Given the description of an element on the screen output the (x, y) to click on. 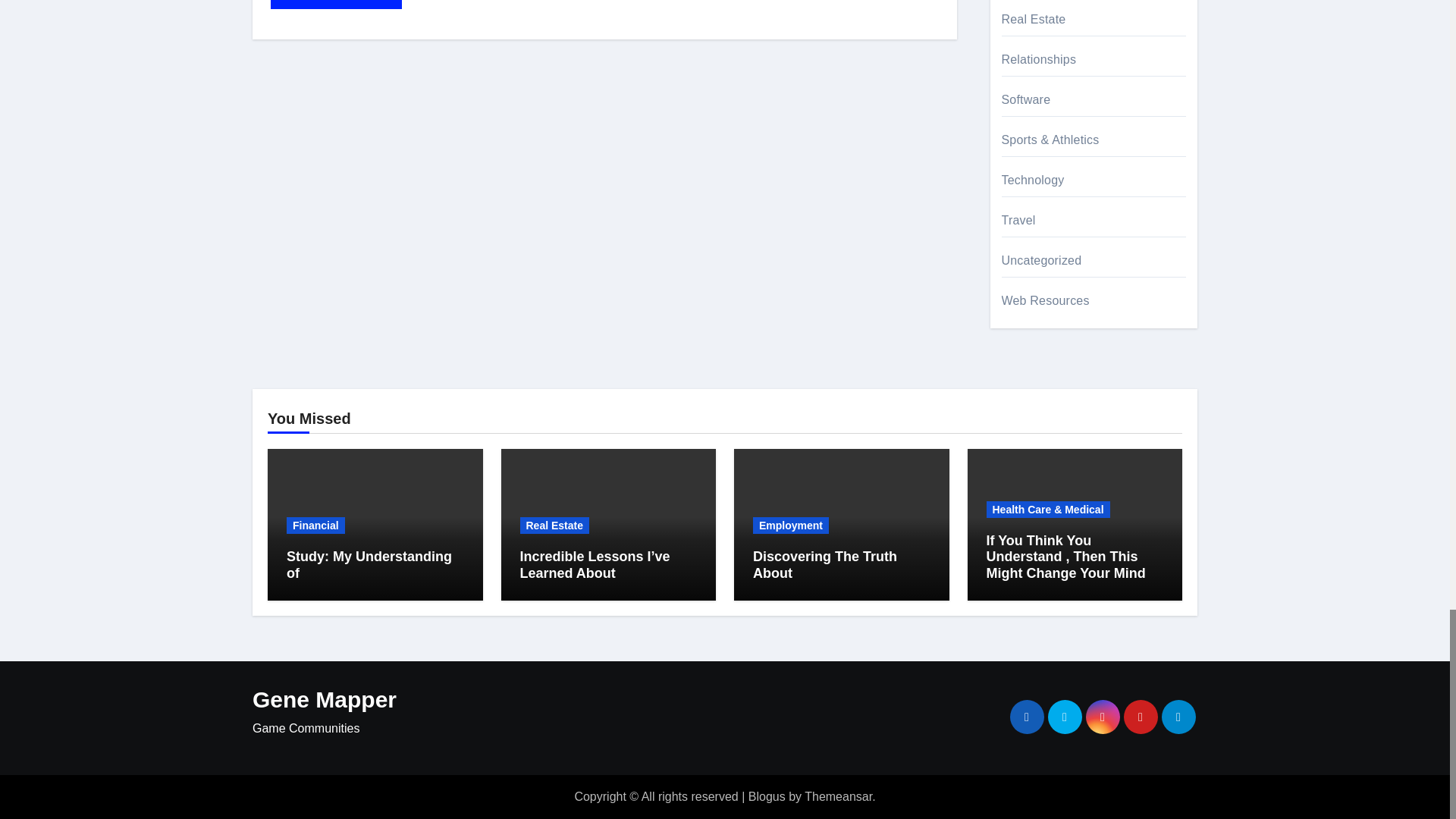
Permalink to: Study: My Understanding of (368, 564)
Permalink to: Discovering The Truth About (824, 564)
Post Comment (335, 4)
